Given the description of an element on the screen output the (x, y) to click on. 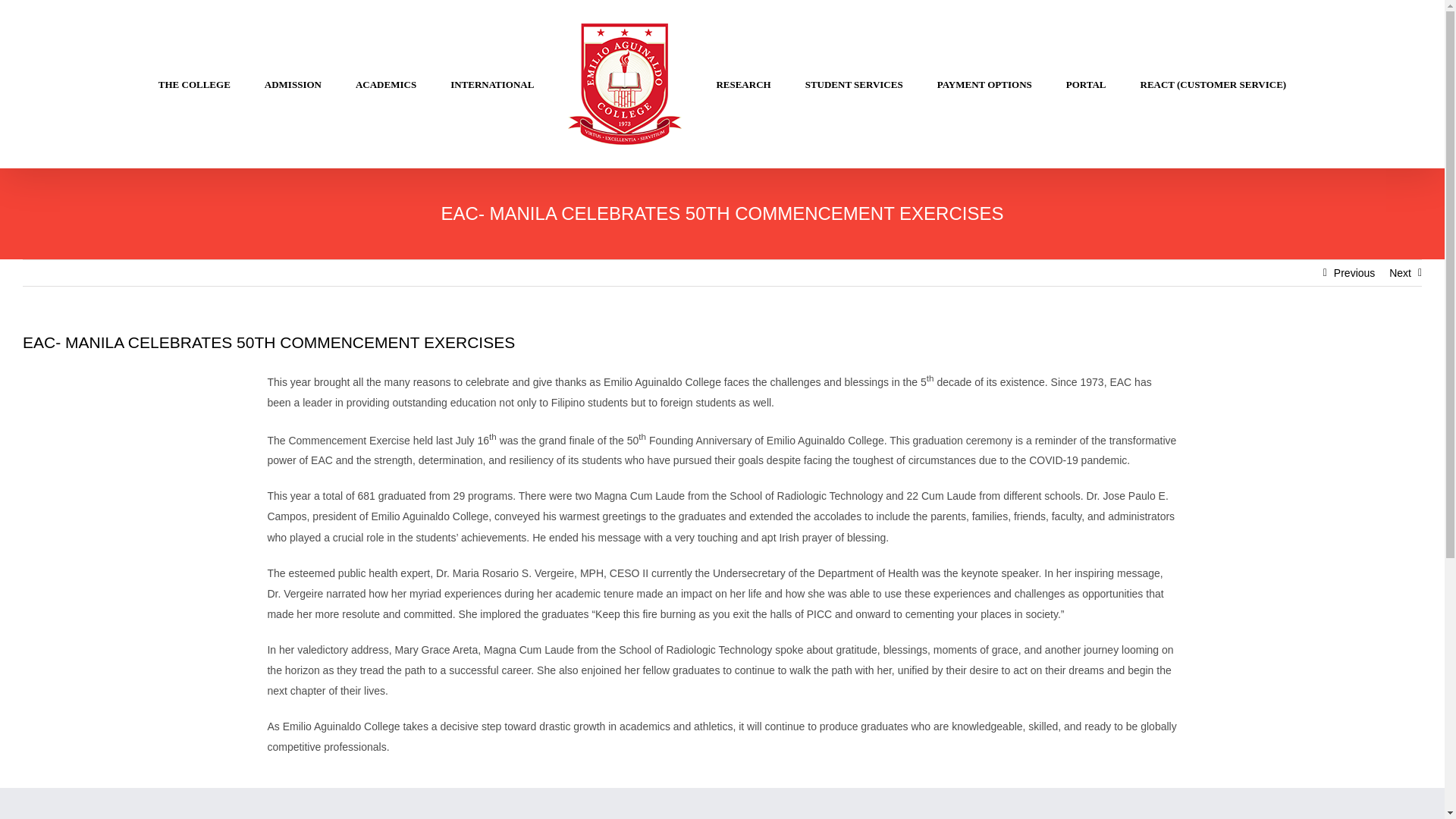
ADMISSION (292, 84)
ACADEMICS (384, 84)
THE COLLEGE (194, 84)
